Given the description of an element on the screen output the (x, y) to click on. 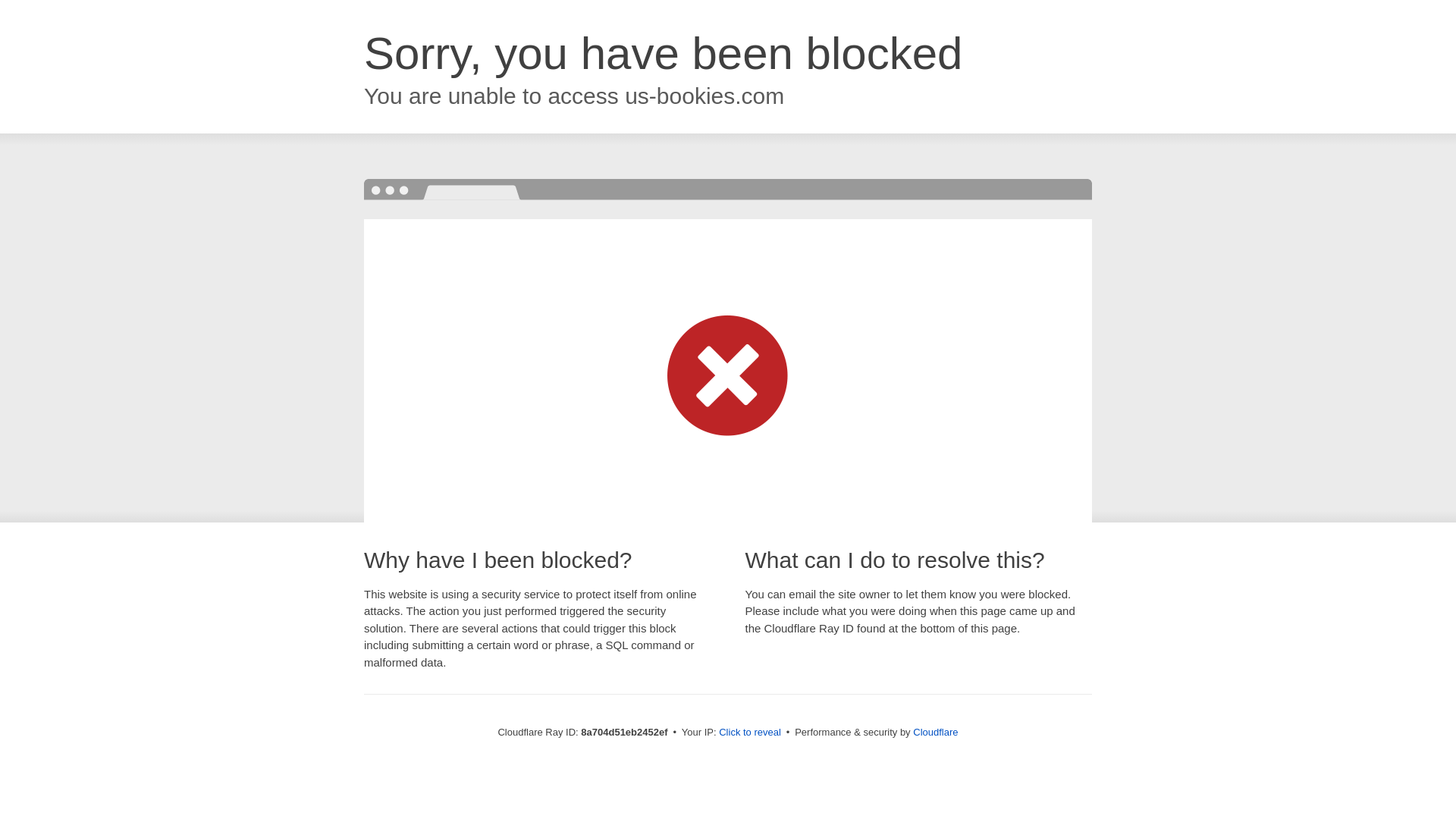
Cloudflare (935, 731)
Click to reveal (749, 732)
